Given the description of an element on the screen output the (x, y) to click on. 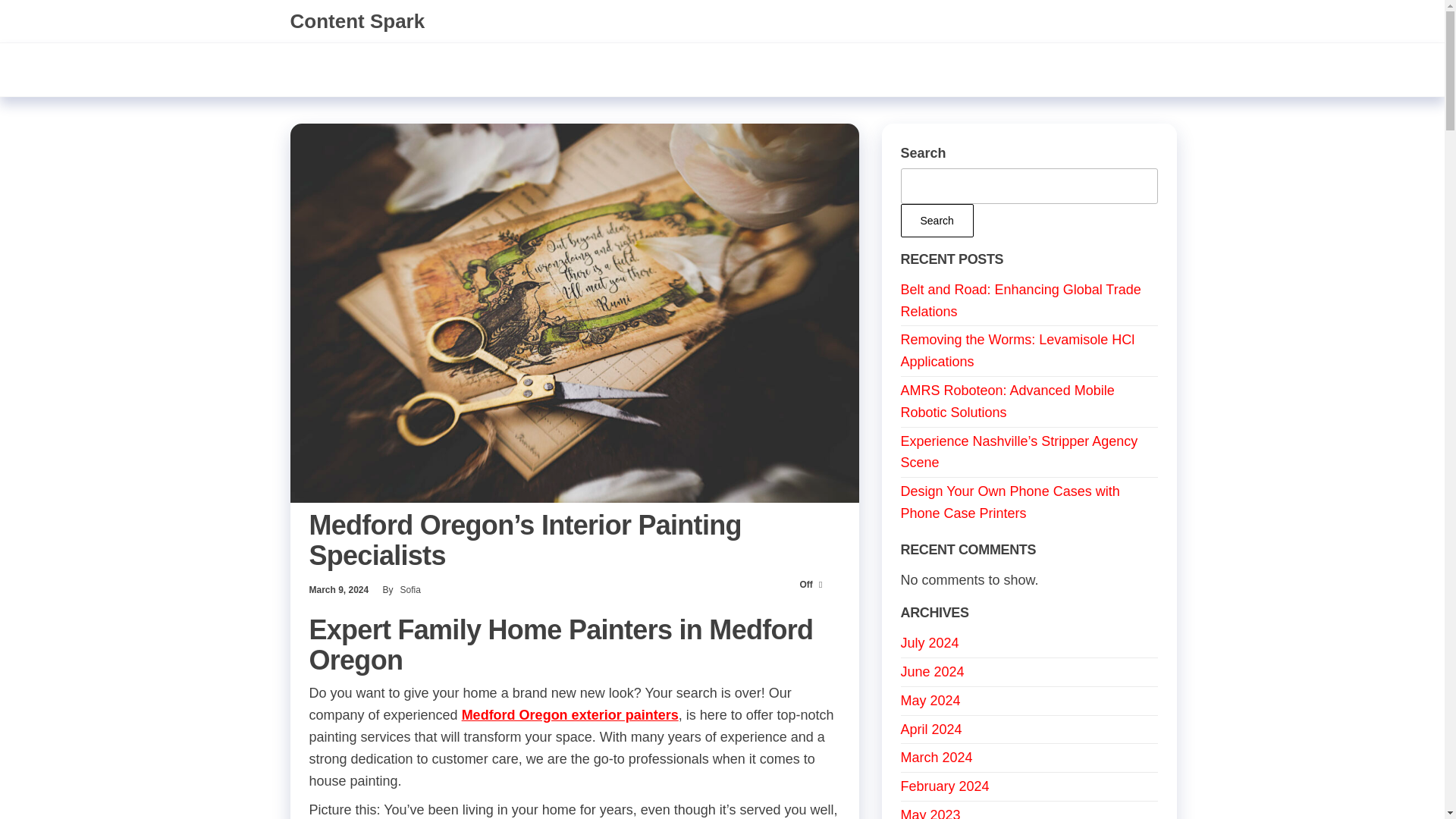
February 2024 (945, 785)
Removing the Worms: Levamisole HCl Applications (1018, 350)
AMRS Roboteon: Advanced Mobile Robotic Solutions (1008, 401)
May 2023 (930, 813)
Sofia (410, 589)
July 2024 (930, 642)
Design Your Own Phone Cases with Phone Case Printers (1010, 502)
Content Spark (357, 20)
Search (937, 220)
Belt and Road: Enhancing Global Trade Relations (1021, 300)
March 2024 (936, 757)
Medford Oregon exterior painters (569, 714)
May 2024 (930, 700)
April 2024 (931, 729)
June 2024 (932, 671)
